Given the description of an element on the screen output the (x, y) to click on. 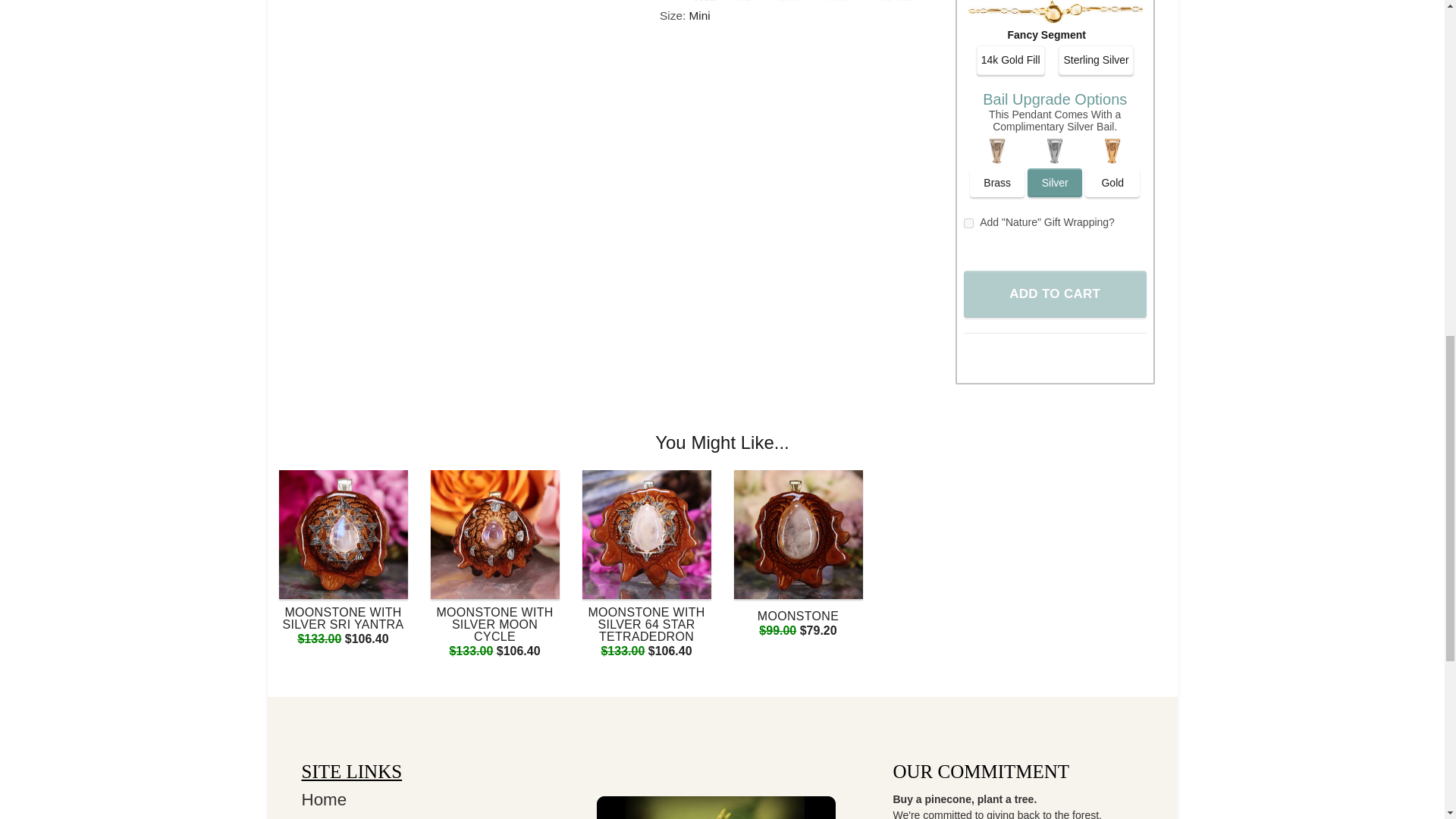
28476904112192 (968, 223)
